Given the description of an element on the screen output the (x, y) to click on. 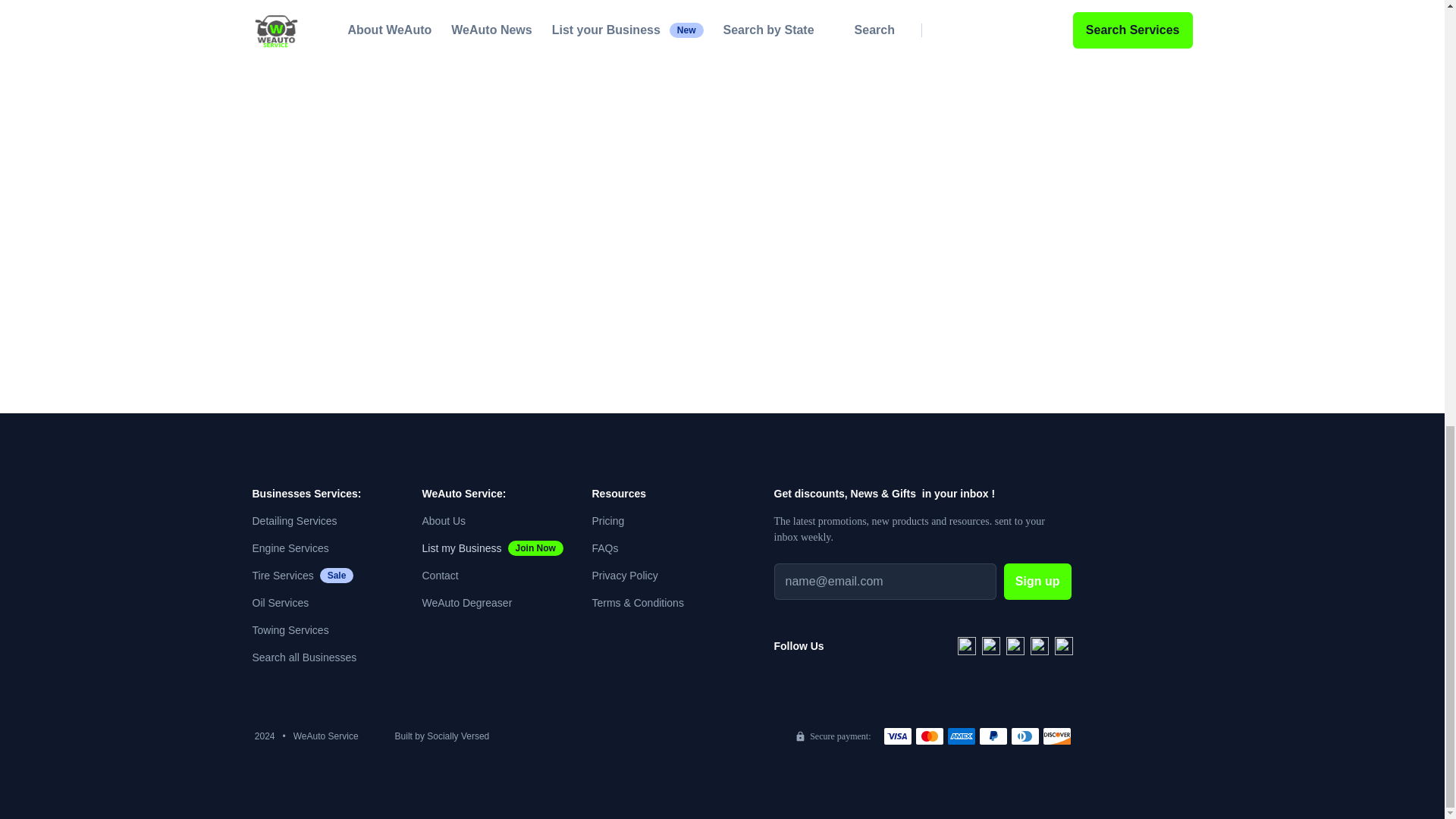
Detailing Services (492, 548)
Towing Services (293, 520)
Sign up (290, 630)
Contact (1037, 581)
WeAuto Degreaser (440, 575)
FAQs (467, 602)
About Us (604, 548)
Engine Services (443, 520)
Oil Services (290, 548)
